Given the description of an element on the screen output the (x, y) to click on. 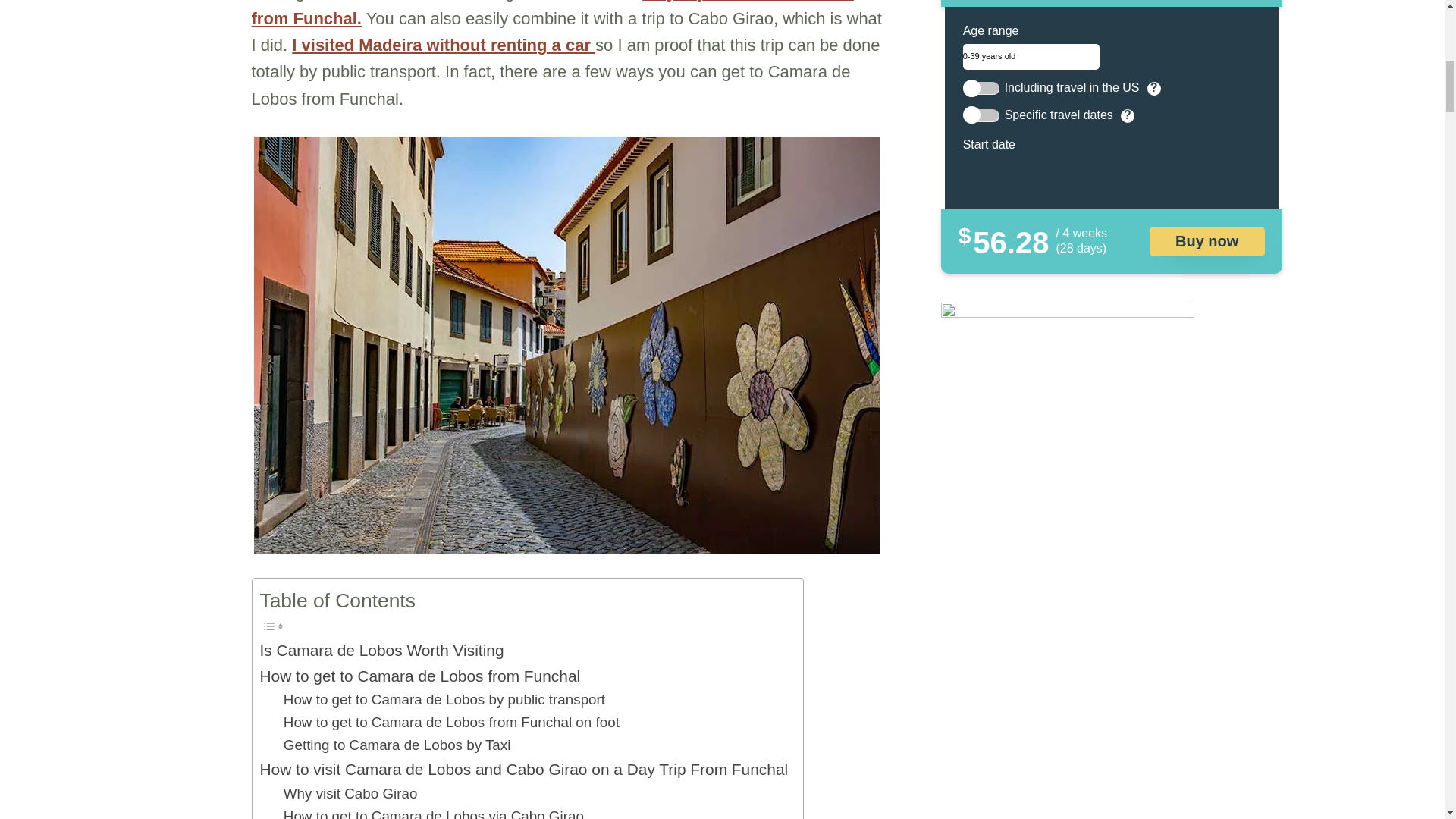
How to get to Camara de Lobos by public transport (444, 699)
Is Camara de Lobos Worth Visiting (381, 650)
How to get to Camara de Lobos from Funchal (419, 675)
Getting to Camara de Lobos by Taxi (397, 744)
How to get to Camara de Lobos from Funchal (419, 675)
How to get to Camara de Lobos via Cabo Girao (433, 812)
Getting to Camara de Lobos by Taxi (397, 744)
I visited Madeira without renting a car (443, 45)
How to get to Camara de Lobos by public transport (444, 699)
Is Camara de Lobos Worth Visiting (381, 650)
